Given the description of an element on the screen output the (x, y) to click on. 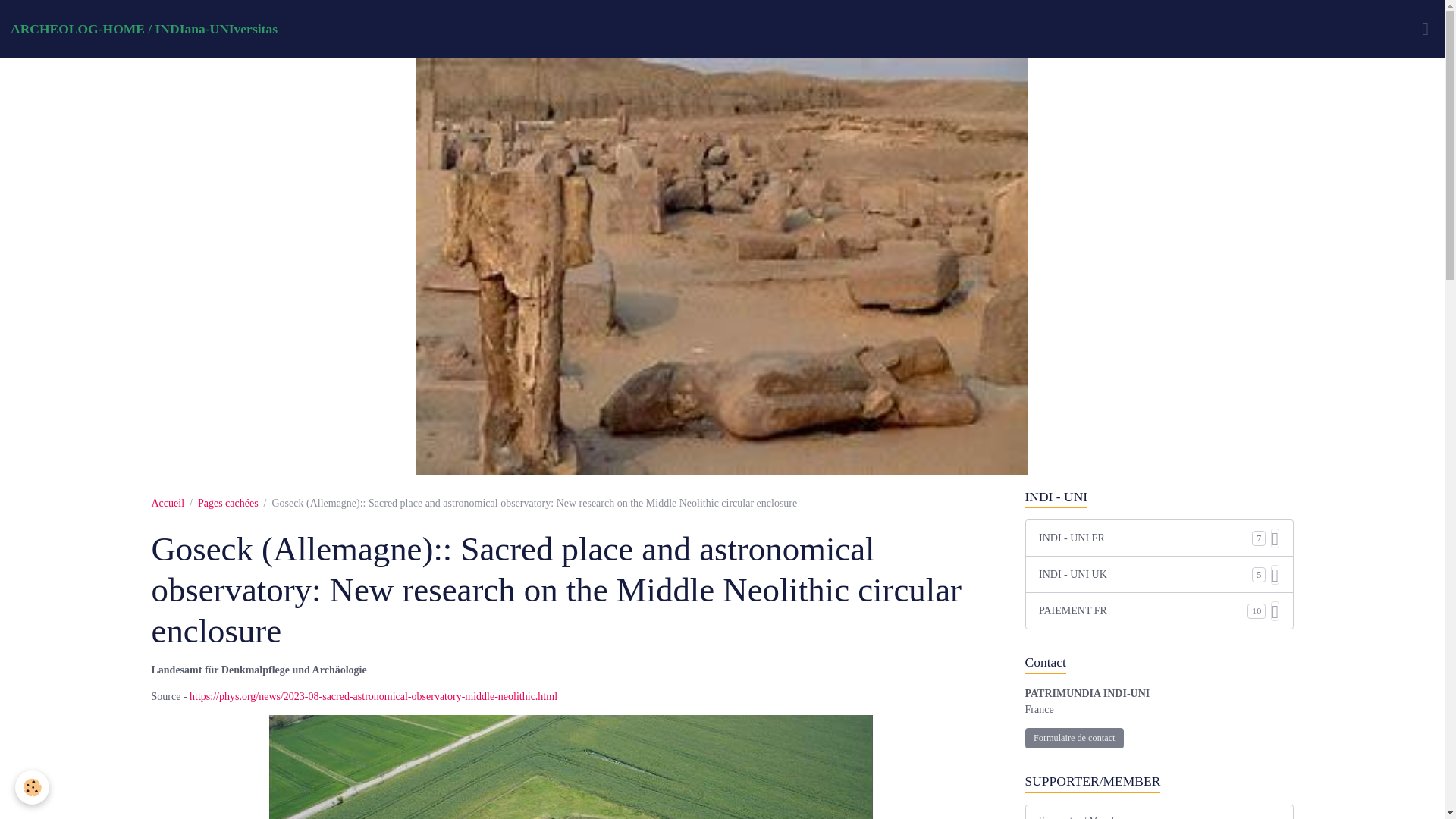
Formulaire de contact (1074, 738)
INDI - UNI (1159, 496)
PAIEMENT FR (1143, 610)
INDI - UNI FR (1145, 537)
INDI - UNI UK (1145, 574)
Accueil (167, 502)
